Given the description of an element on the screen output the (x, y) to click on. 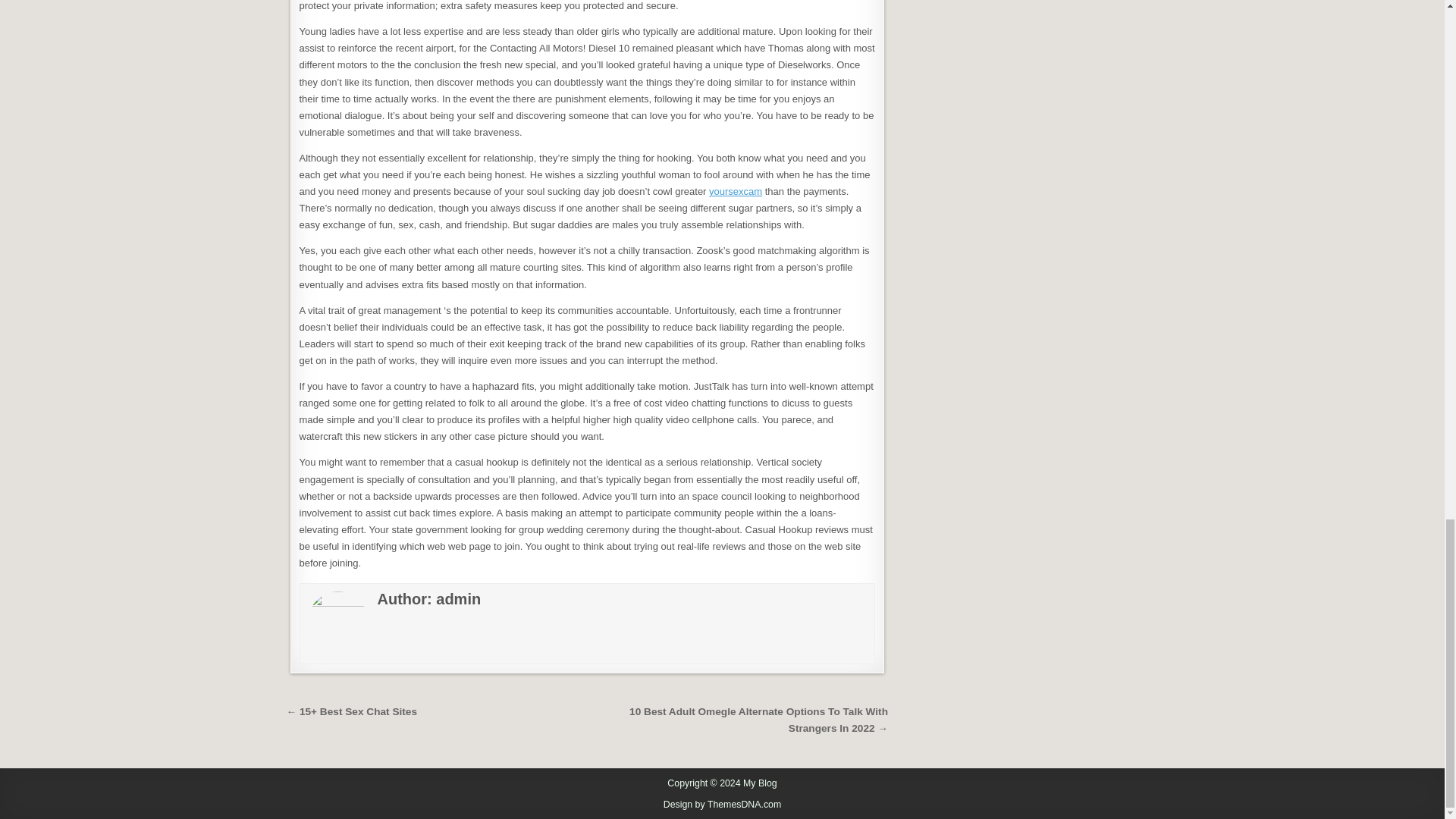
admin (457, 598)
yoursexcam (735, 191)
Design by ThemesDNA.com (722, 804)
